Given the description of an element on the screen output the (x, y) to click on. 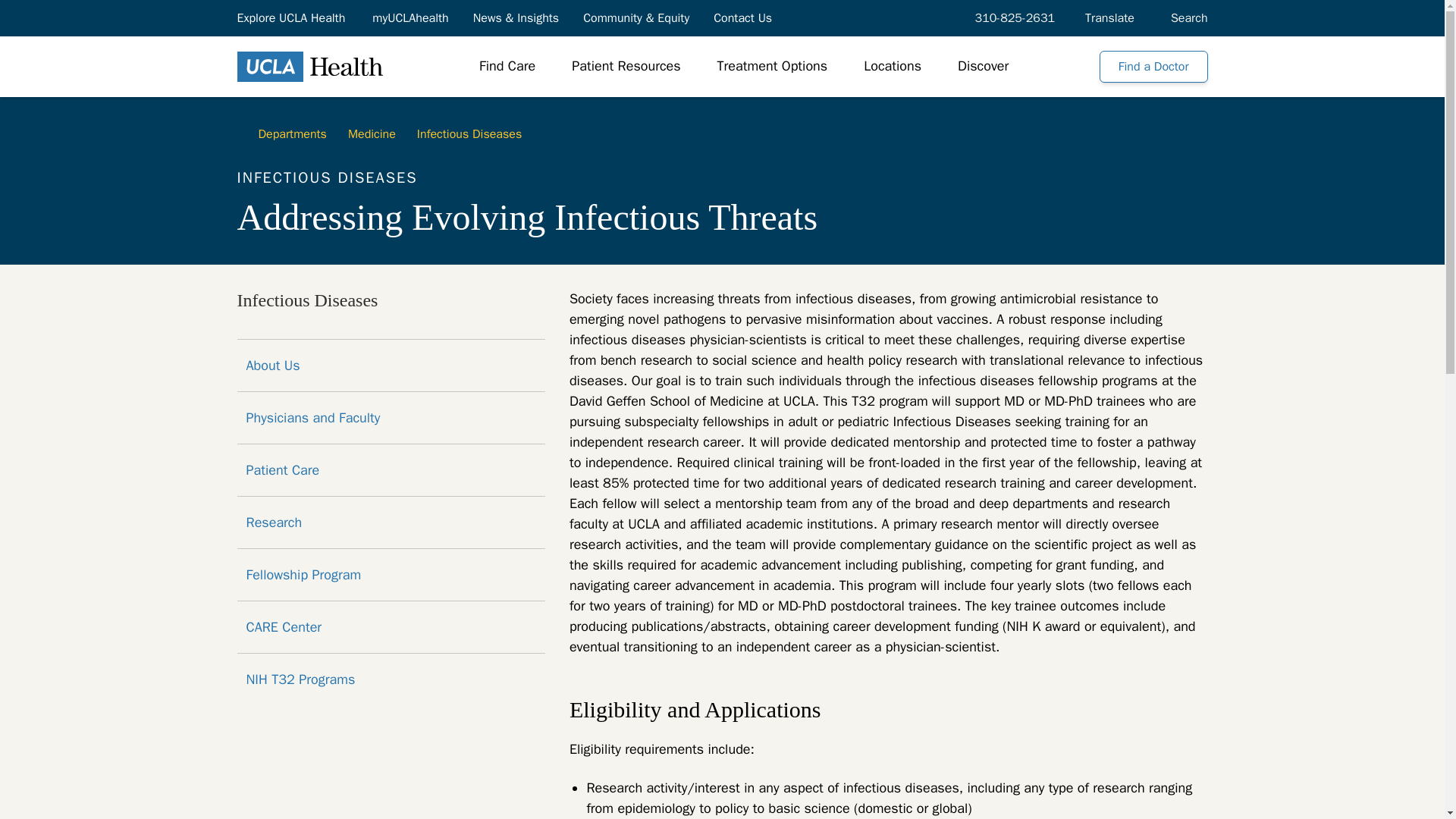
Contact Us (742, 17)
Search (1186, 17)
myUCLAhealth Login. (409, 17)
Find Care (507, 66)
Explore UCLA Health (291, 17)
Translate (1110, 17)
310-825-2631 (1011, 17)
myUCLAhealth (409, 17)
